Given the description of an element on the screen output the (x, y) to click on. 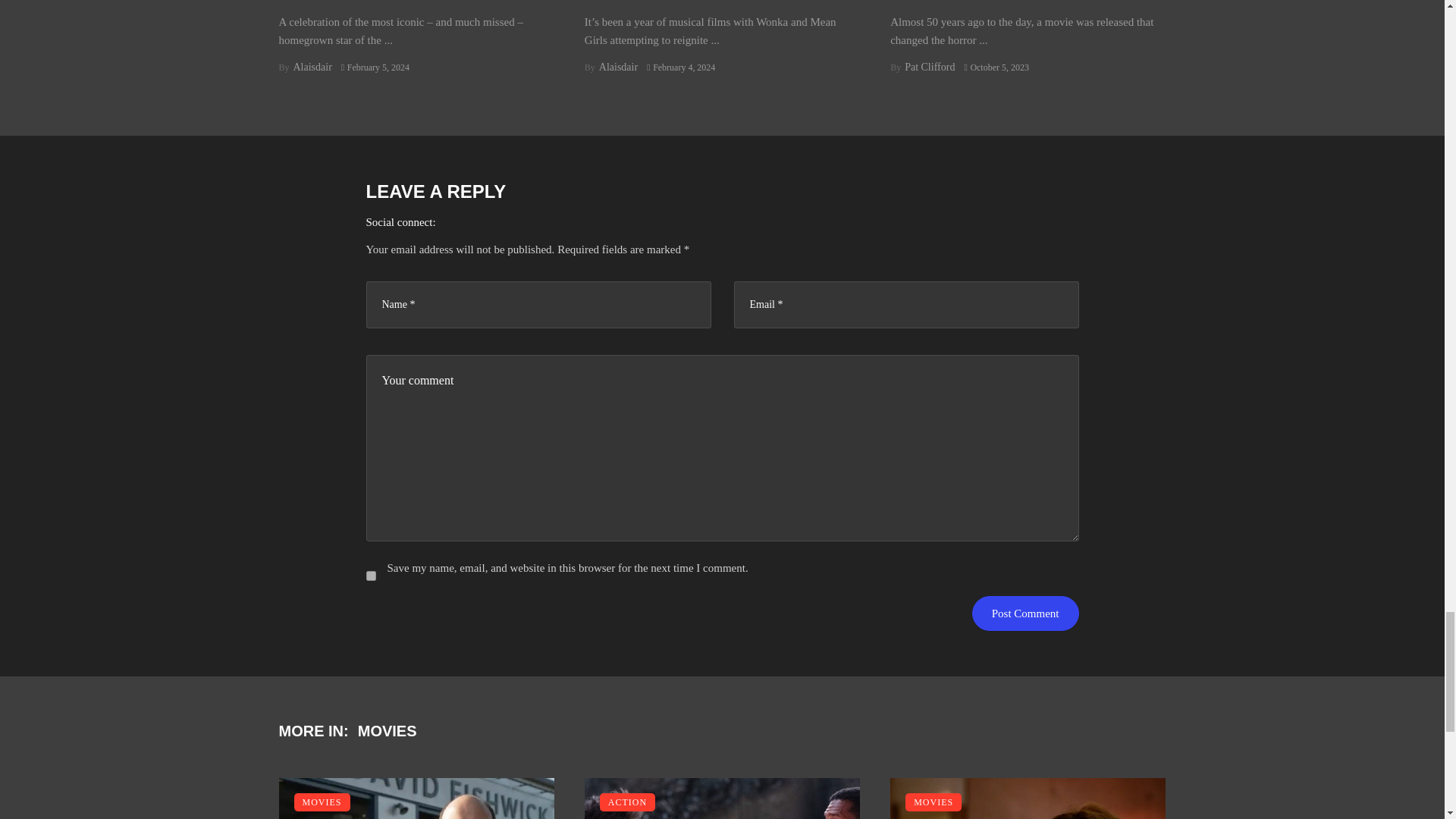
Post Comment (1025, 613)
February 5, 2024 at 6:16 pm (374, 67)
yes (370, 575)
